Given the description of an element on the screen output the (x, y) to click on. 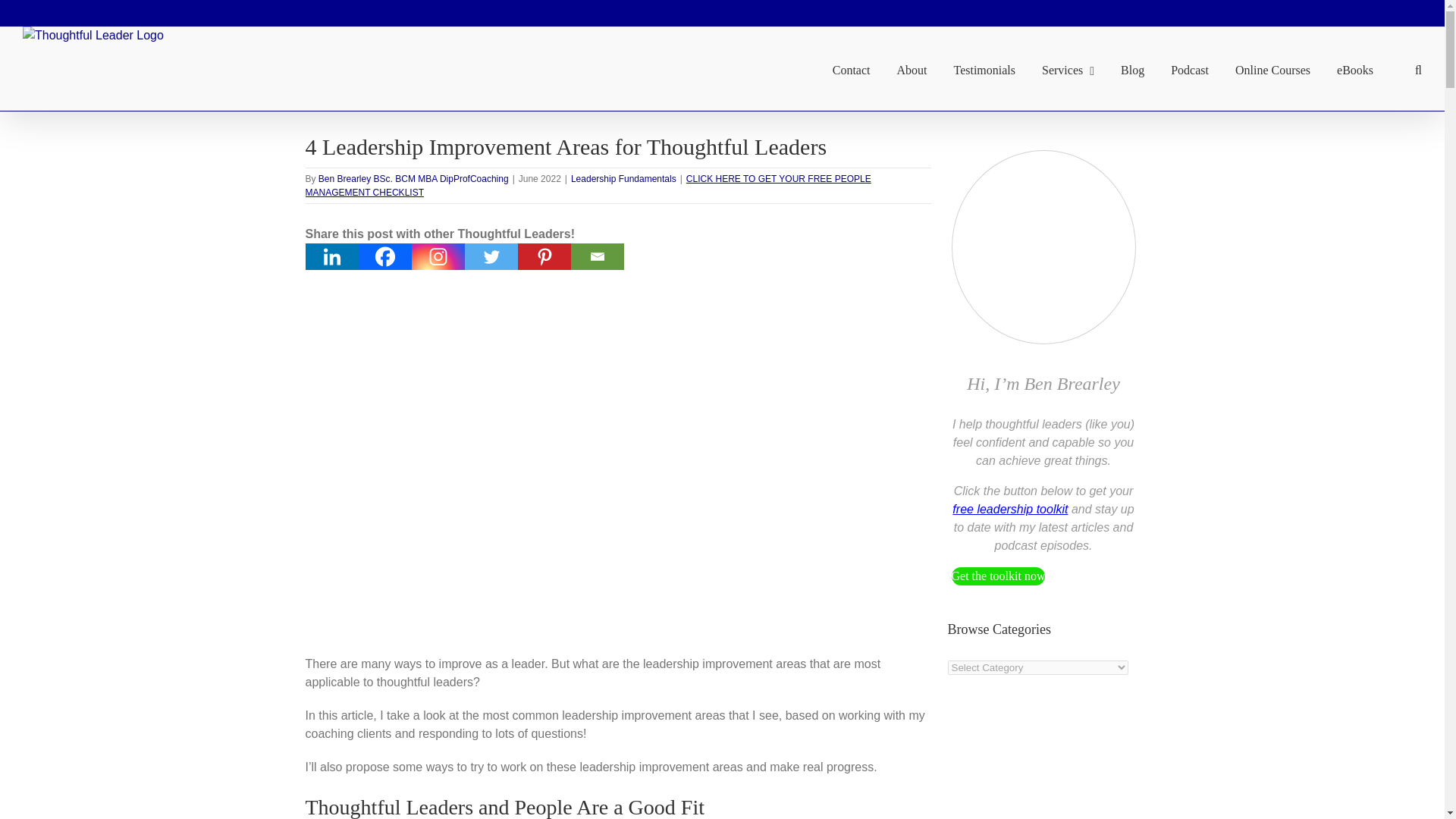
Posts by Ben Brearley BSc. BCM MBA DipProfCoaching (413, 178)
Facebook (384, 256)
Email (596, 256)
Ben Brearley BSc. BCM MBA DipProfCoaching (413, 178)
Pinterest (543, 256)
Twitter (490, 256)
Instagram (437, 256)
CLICK HERE TO GET YOUR FREE PEOPLE MANAGEMENT CHECKLIST (587, 185)
Online Courses (1272, 68)
Linkedin (331, 256)
Leadership Fundamentals (623, 178)
